Given the description of an element on the screen output the (x, y) to click on. 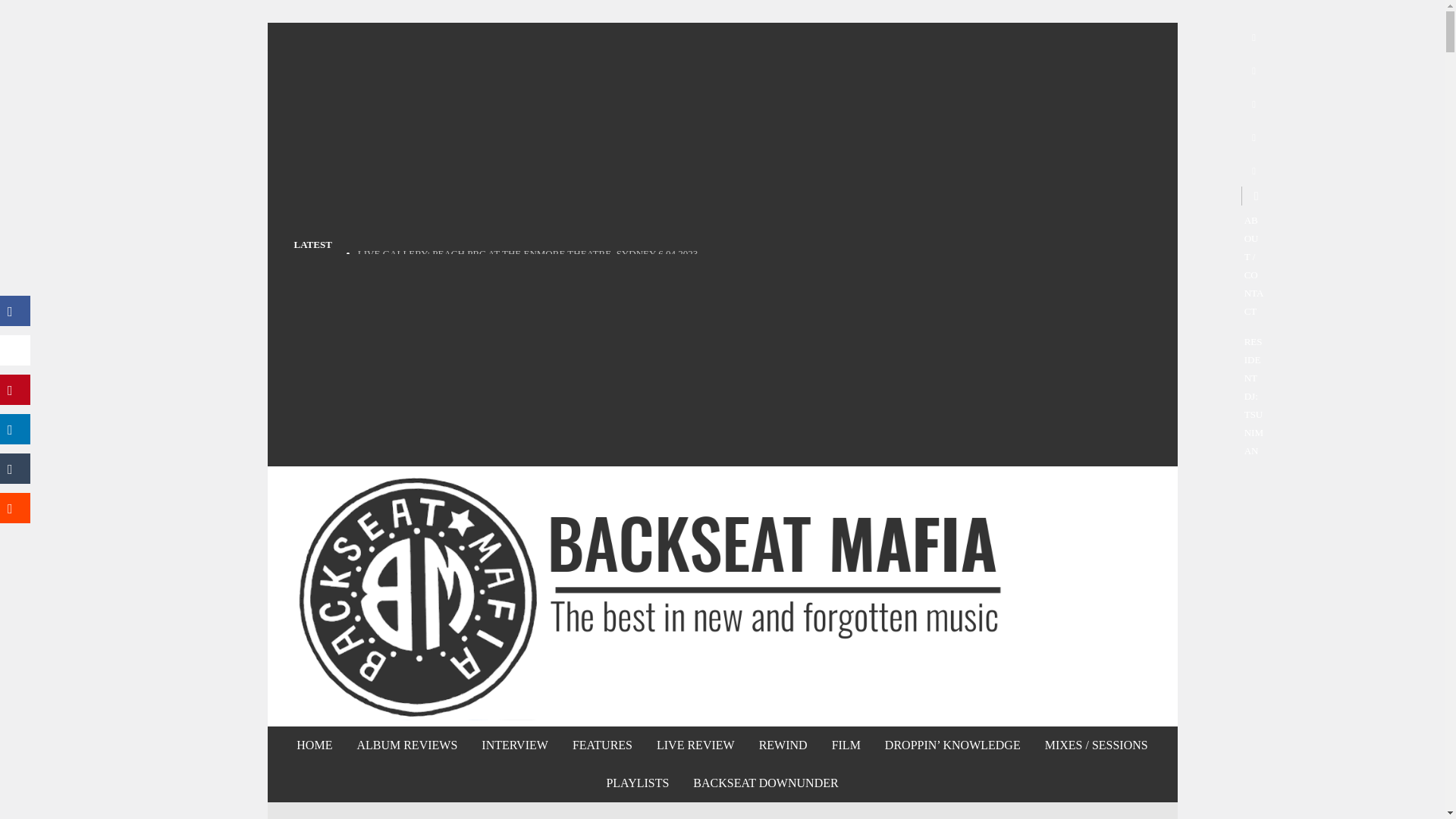
INTERVIEW (514, 745)
HOME (313, 745)
FILM (845, 745)
PLAYLISTS (637, 783)
FEATURES (602, 745)
REWIND (782, 745)
LIVE REVIEW (695, 745)
ALBUM REVIEWS (405, 745)
